Given the description of an element on the screen output the (x, y) to click on. 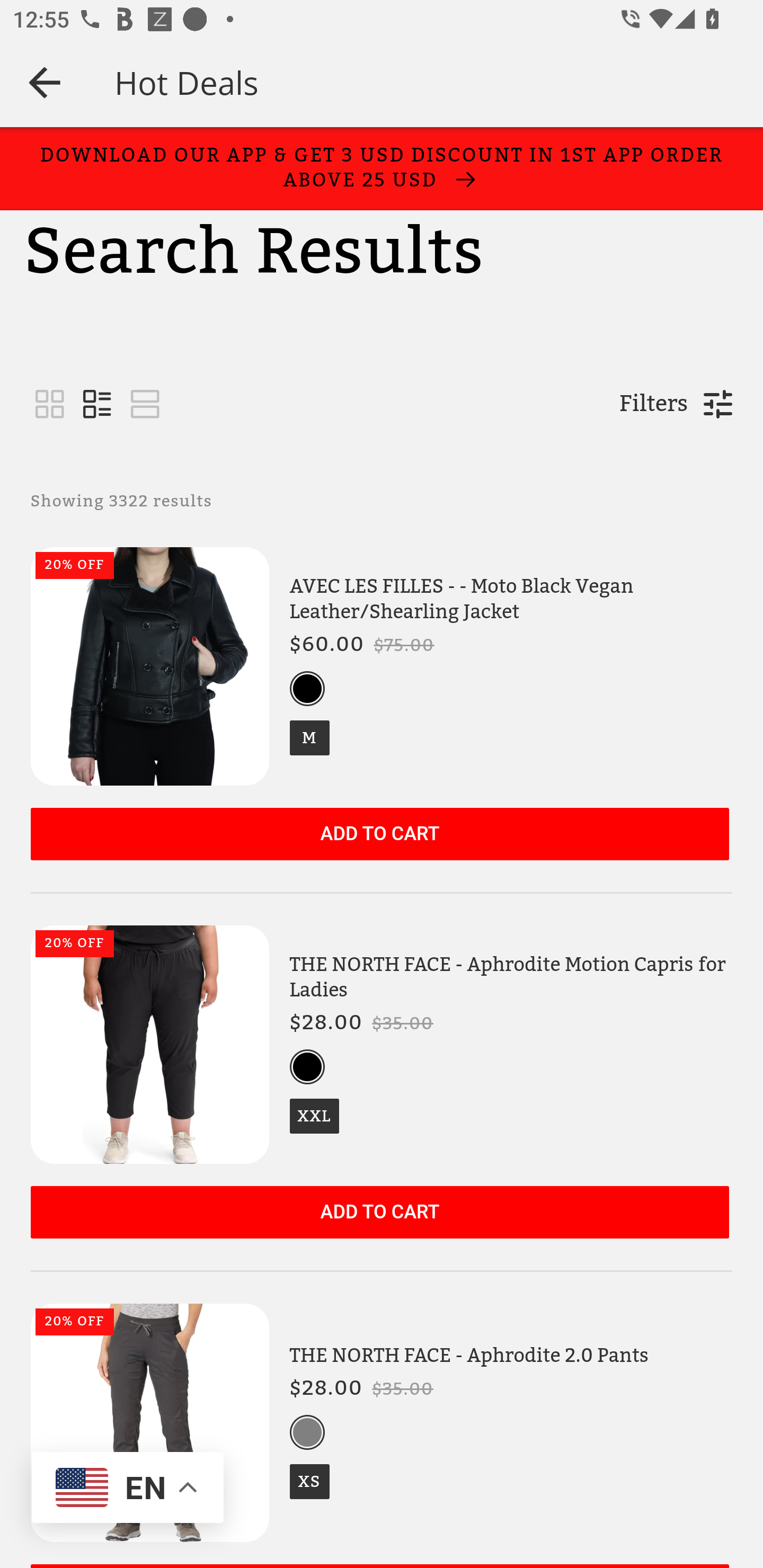
Navigate up (44, 82)
Filters (653, 404)
search-results-page?collection=sale# (50, 404)
search-results-page?collection=sale# (97, 404)
search-results-page?collection=sale# (145, 404)
Black (307, 689)
ADD TO CART (379, 833)
Black (307, 1066)
ADD TO CART (379, 1212)
Grey (307, 1432)
